Given the description of an element on the screen output the (x, y) to click on. 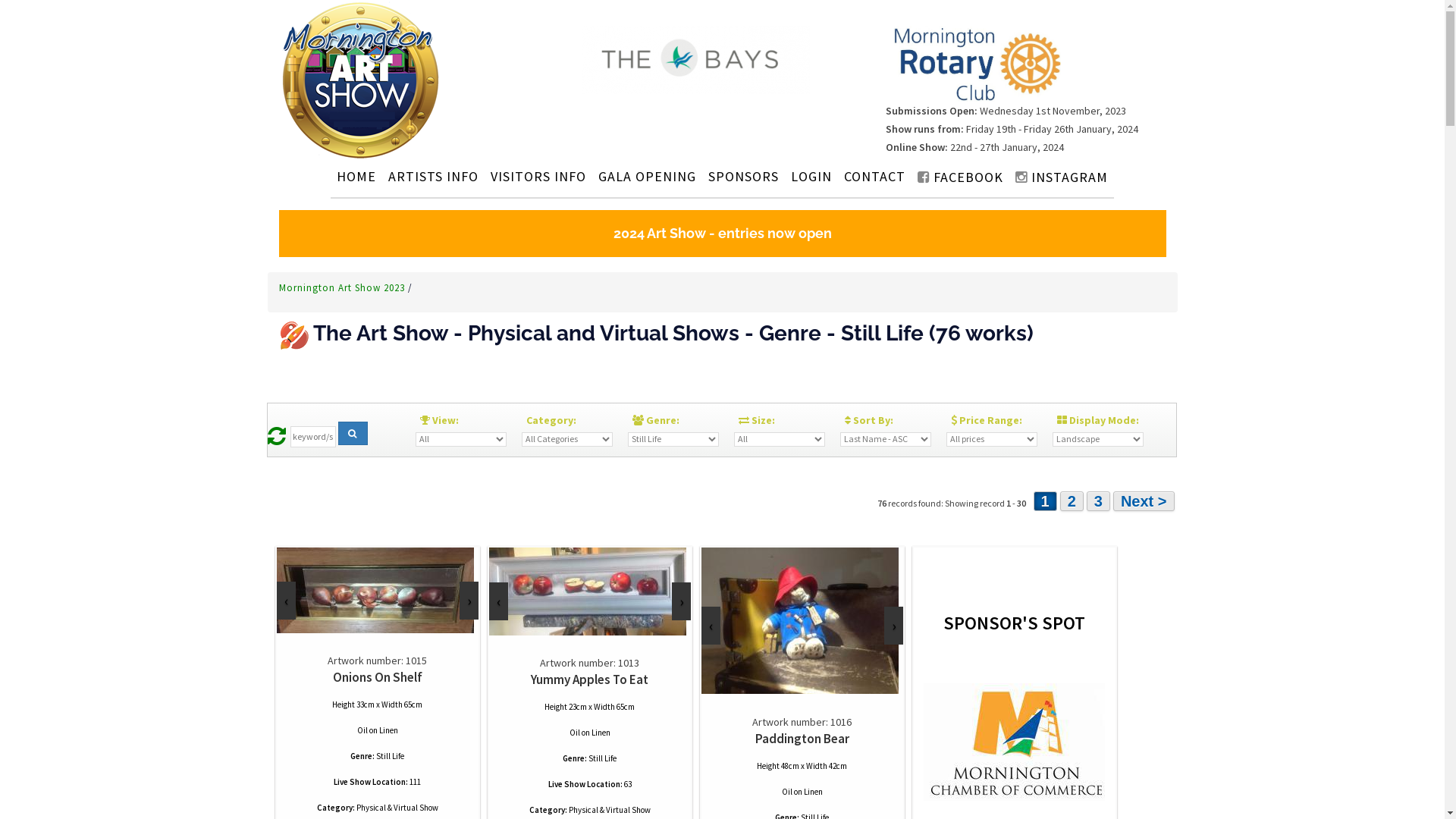
SPONSOR'S SPOT Element type: text (1013, 682)
Reset Search Criteria Element type: hover (275, 439)
3 Element type: text (1098, 501)
GALA OPENING Element type: text (646, 176)
Oil Element type: text (361, 729)
Onions On Shelf Element type: text (376, 676)
Paddington Bear Element type: text (802, 738)
Linen Element type: text (388, 729)
Still Life Element type: text (602, 758)
ARTISTS INFO Element type: text (433, 176)
Oil Element type: text (573, 732)
2024 Art Show - entries now open Element type: text (722, 233)
LOGIN Element type: text (811, 176)
HOME Element type: text (355, 176)
Mornington Art Show 2023 Element type: text (343, 287)
Oil Element type: text (786, 791)
CONTACT Element type: text (874, 176)
Linen Element type: text (600, 732)
Yummy Apples To Eat Element type: text (589, 679)
INSTAGRAM Element type: text (1061, 177)
Next > Element type: text (1143, 501)
FACEBOOK Element type: text (960, 177)
VISITORS INFO Element type: text (537, 176)
Still Life Element type: text (390, 755)
Linen Element type: text (812, 791)
SPONSORS Element type: text (743, 176)
2 Element type: text (1071, 501)
